Given the description of an element on the screen output the (x, y) to click on. 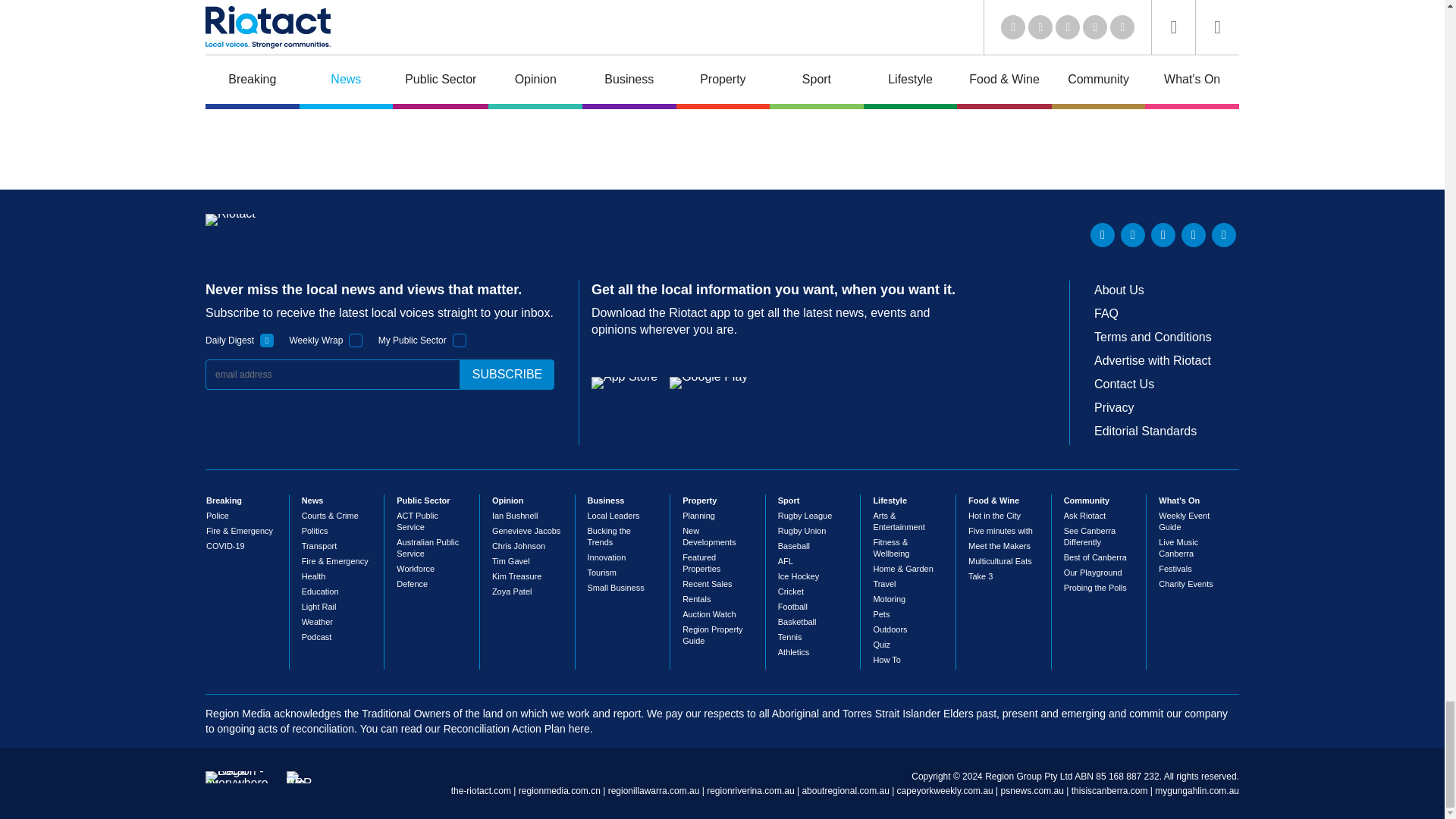
Twitter (1132, 234)
App Store (624, 382)
LinkedIn (1102, 234)
1 (355, 340)
Instagram (1223, 234)
subscribe (507, 374)
1 (458, 340)
Youtube (1162, 234)
Facebook (1192, 234)
1 (266, 340)
